Given the description of an element on the screen output the (x, y) to click on. 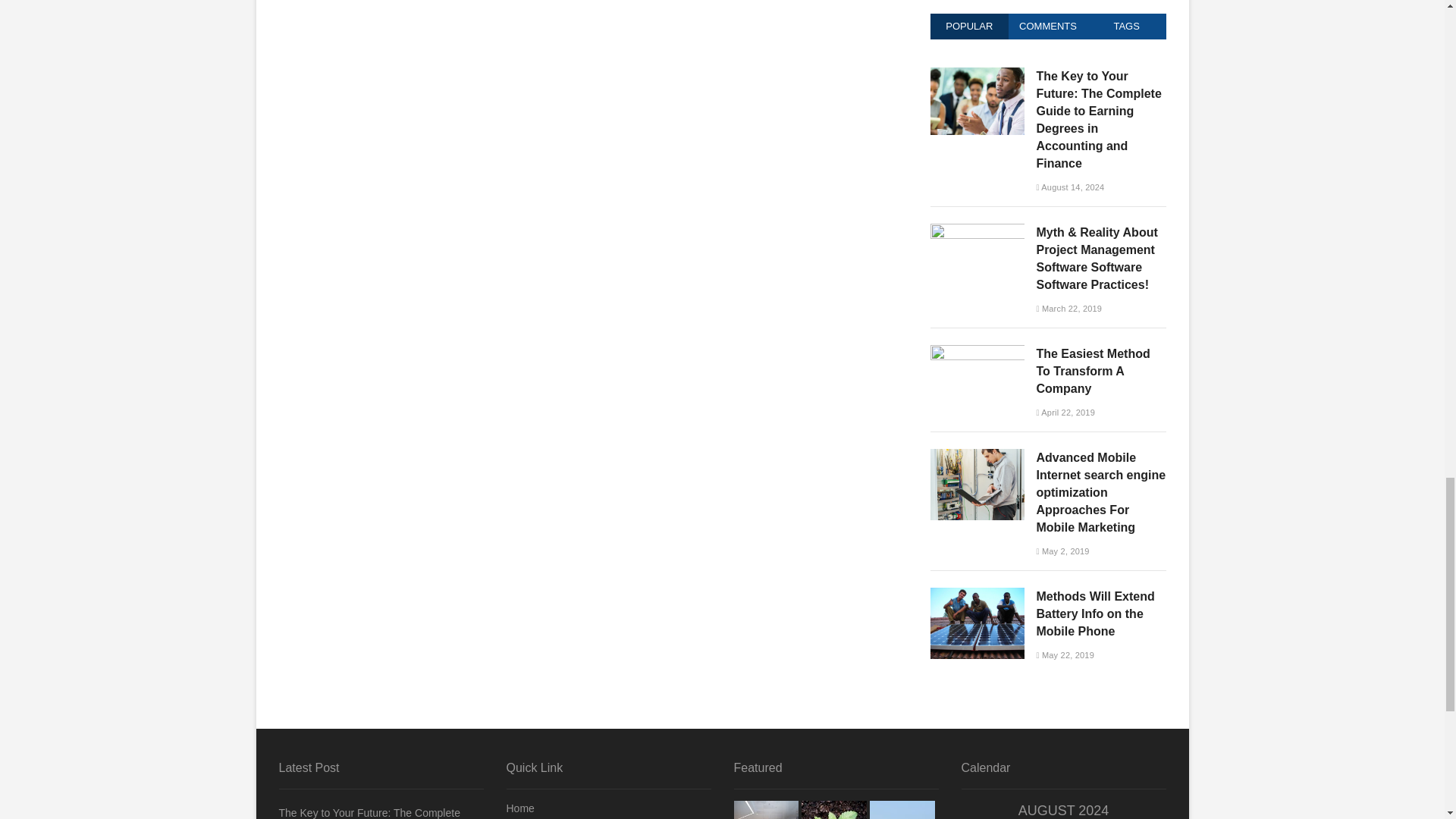
March 22, 2019 (1068, 307)
April 22, 2019 (1064, 411)
August 14, 2024 (1069, 186)
The Easiest Method To Transform A Company (977, 352)
